Given the description of an element on the screen output the (x, y) to click on. 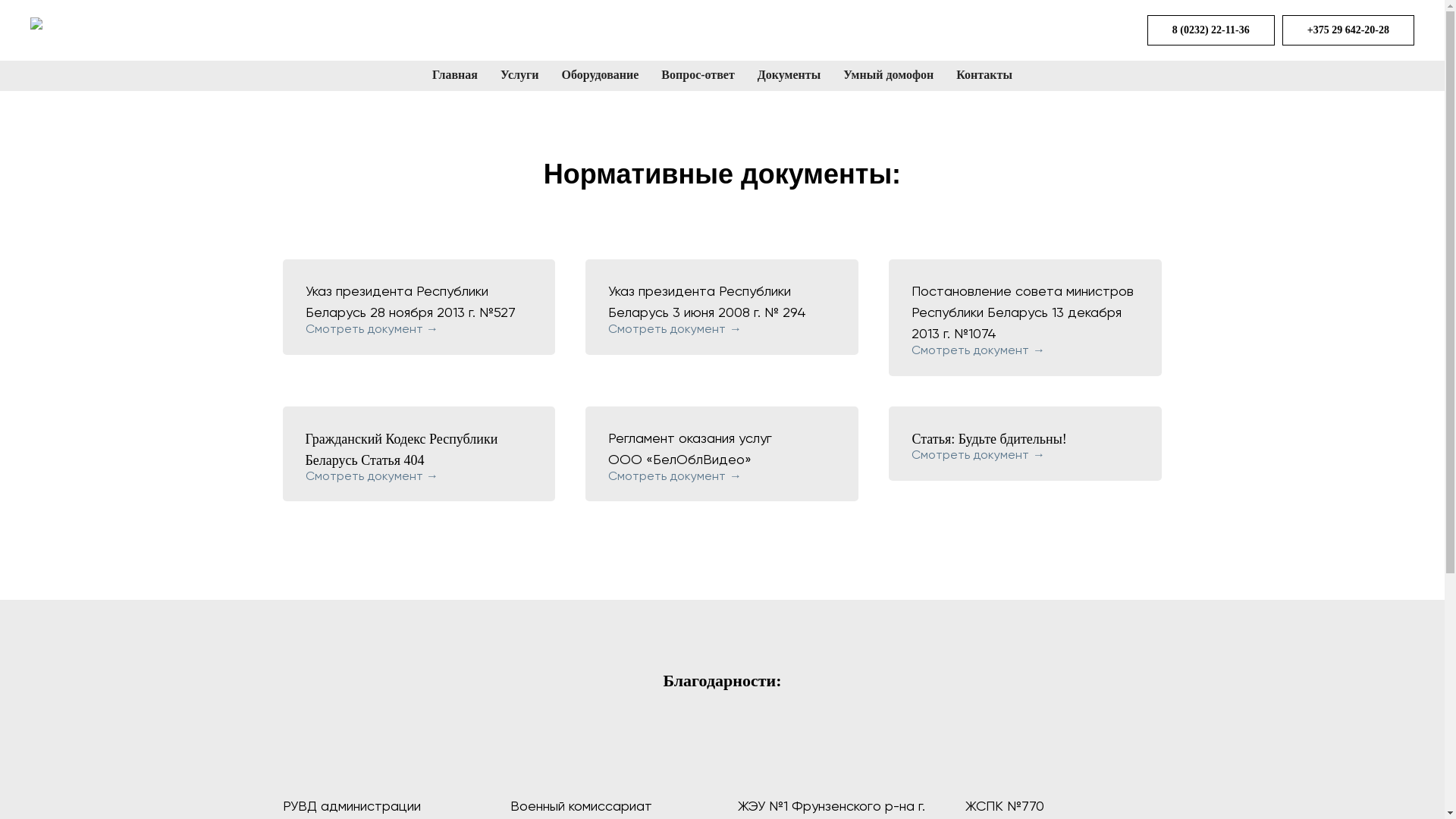
8 (0232) 22-11-36 Element type: text (1210, 30)
+375 29 642-20-28 Element type: text (1348, 30)
